Given the description of an element on the screen output the (x, y) to click on. 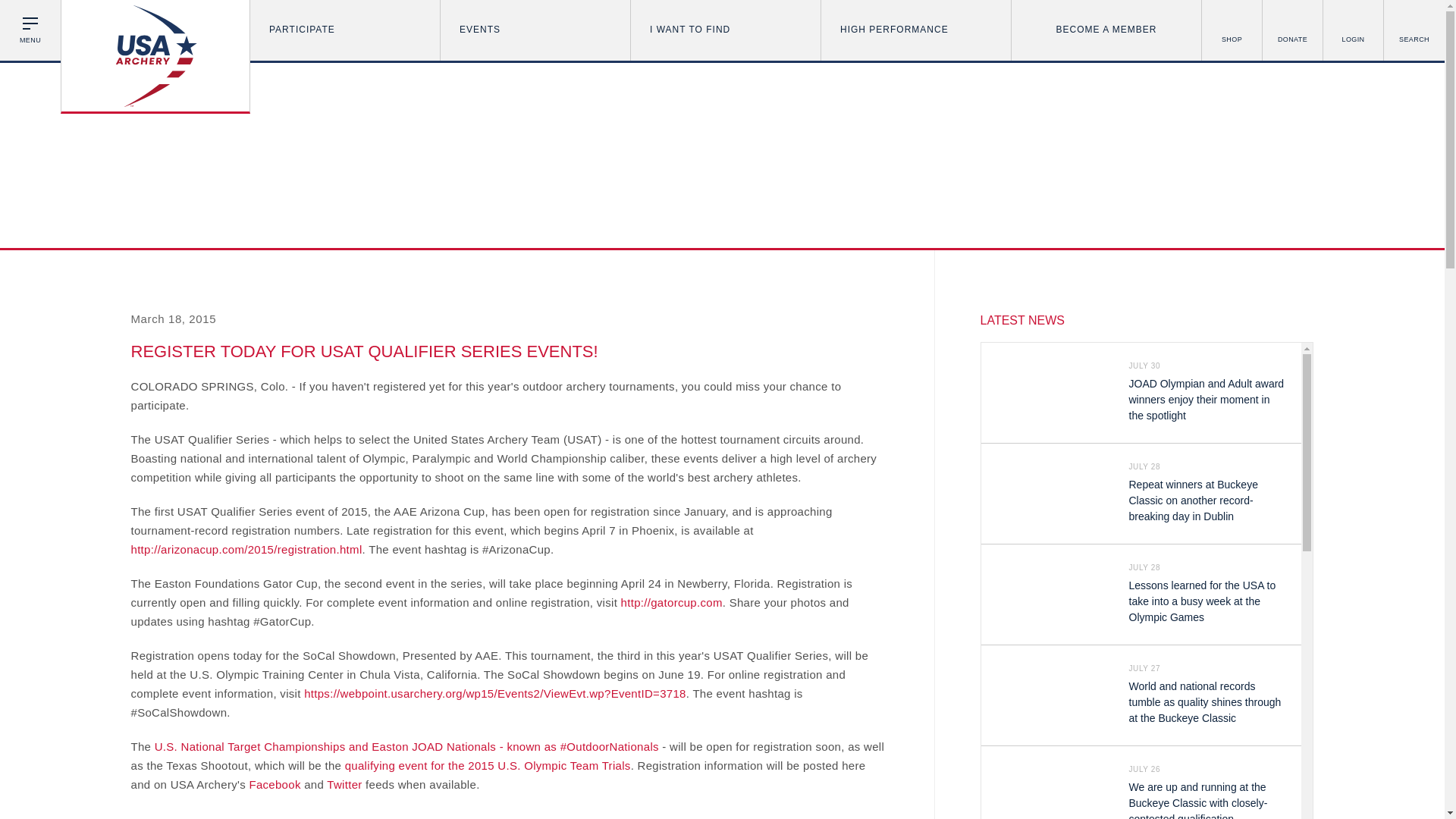
BECOME A MEMBER (1106, 29)
EVENTS (535, 29)
I WANT TO FIND (725, 29)
PARTICIPATE (344, 29)
HIGH PERFORMANCE (915, 29)
SHOP (1232, 30)
LOGIN (1353, 30)
DONATE (1292, 30)
